Given the description of an element on the screen output the (x, y) to click on. 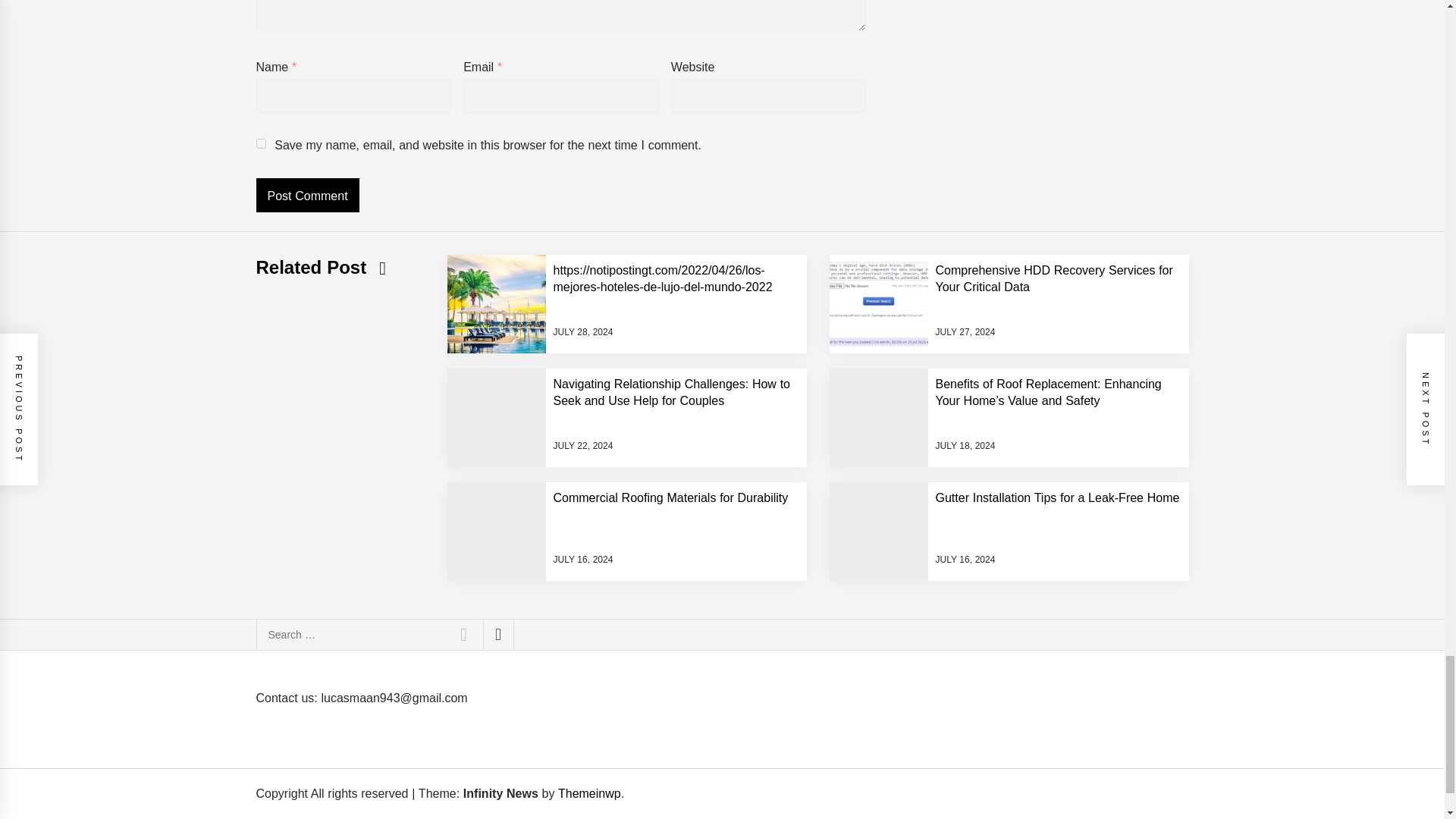
Search (462, 634)
Post Comment (307, 195)
Search (462, 634)
yes (261, 143)
